Given the description of an element on the screen output the (x, y) to click on. 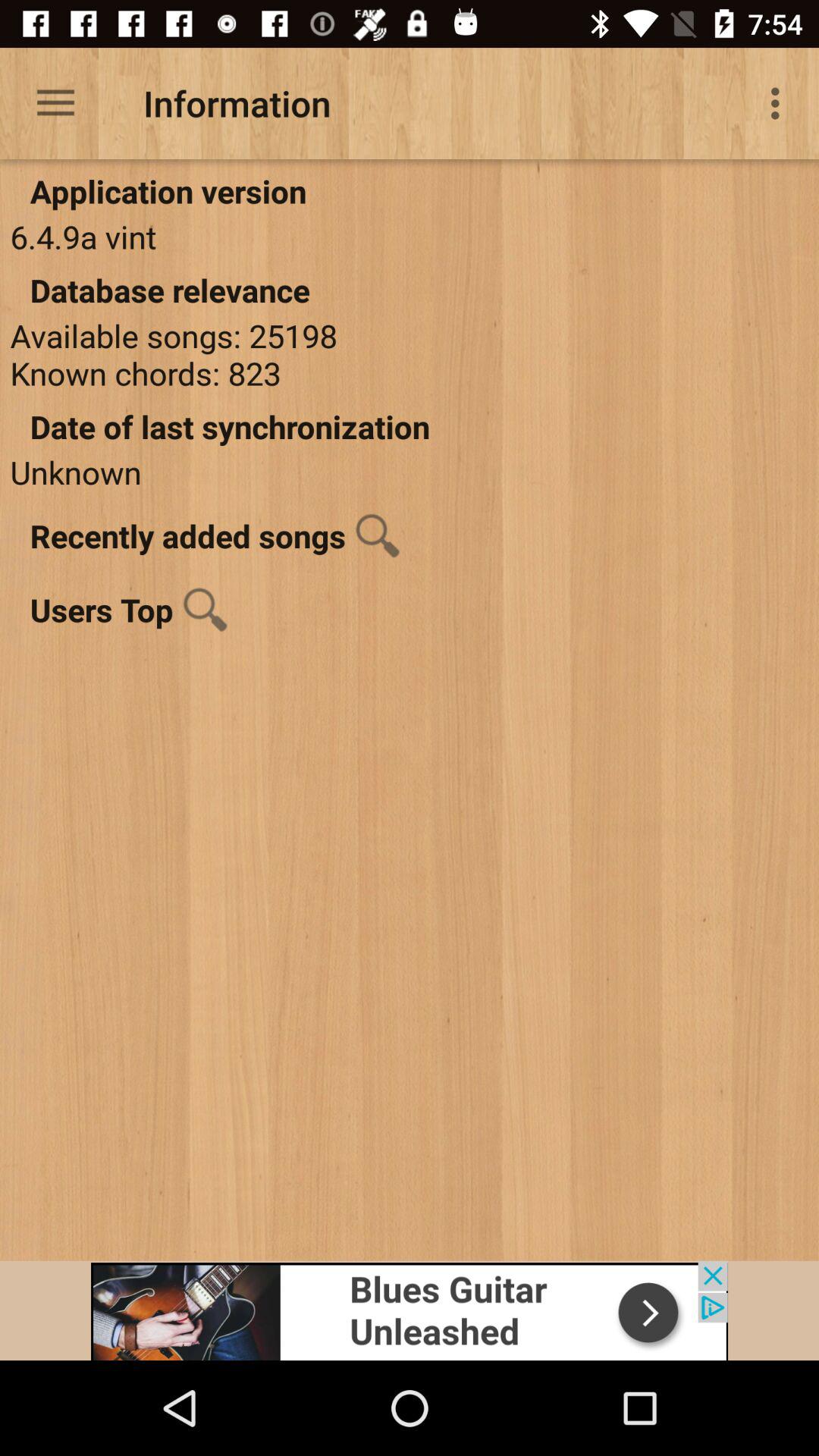
go to previous (409, 1310)
